Given the description of an element on the screen output the (x, y) to click on. 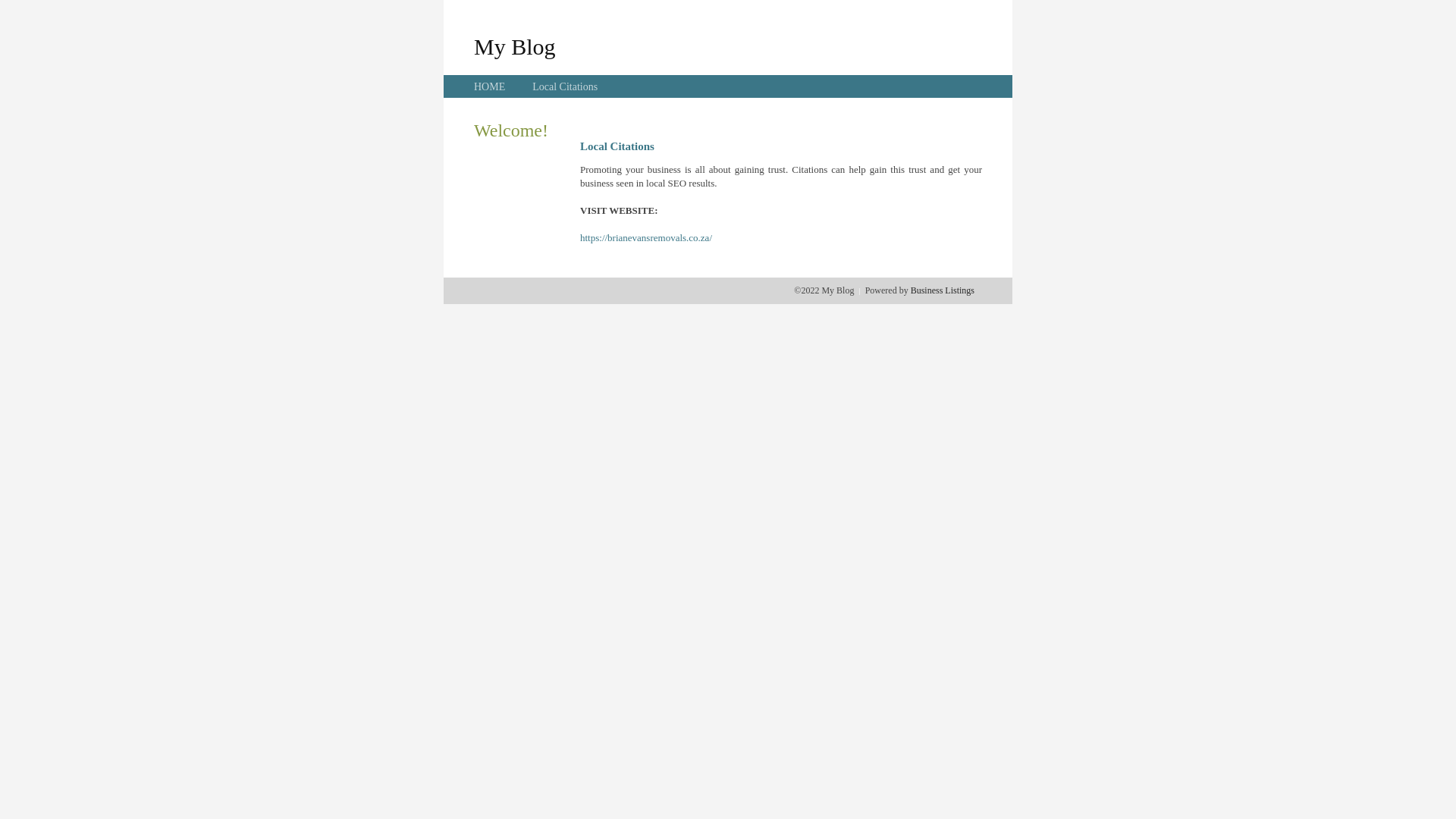
Business Listings Element type: text (942, 290)
My Blog Element type: text (514, 46)
Local Citations Element type: text (564, 86)
https://brianevansremovals.co.za/ Element type: text (646, 237)
HOME Element type: text (489, 86)
